Given the description of an element on the screen output the (x, y) to click on. 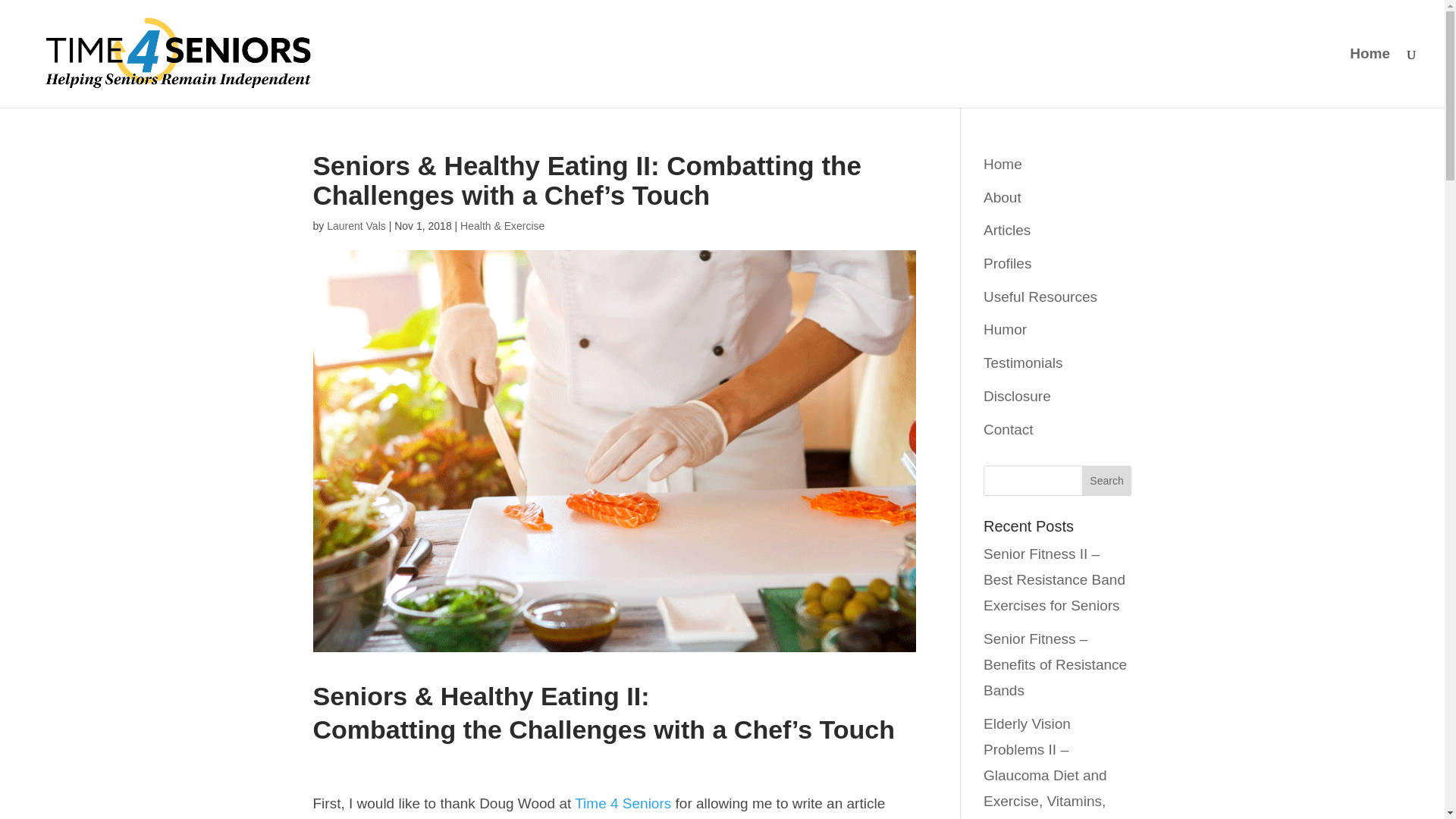
Search (1106, 481)
Useful Resources (1040, 296)
Humor (1005, 329)
Home (1003, 163)
Posts by Laurent Vals (355, 225)
Laurent Vals (355, 225)
Disclosure (1017, 396)
Time 4 Seniors (623, 803)
About (1003, 197)
Search (1106, 481)
Articles (1007, 229)
Contact (1008, 429)
Profiles (1007, 263)
Testimonials (1023, 362)
